Given the description of an element on the screen output the (x, y) to click on. 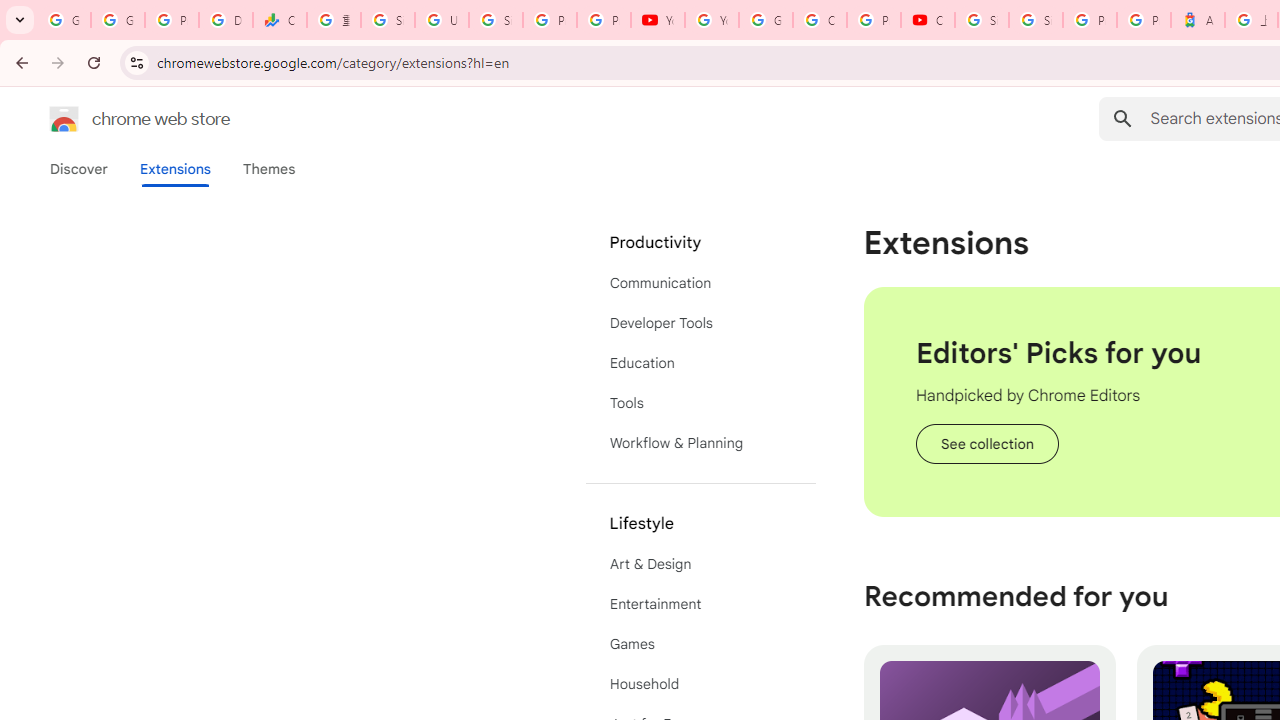
Atour Hotel - Google hotels (1197, 20)
Education (700, 362)
Chrome Web Store logo (63, 118)
Sign in - Google Accounts (1035, 20)
Chrome Web Store logo chrome web store (118, 118)
Extensions (174, 169)
Google Workspace Admin Community (63, 20)
YouTube (657, 20)
Themes (269, 169)
Discover (79, 169)
